Given the description of an element on the screen output the (x, y) to click on. 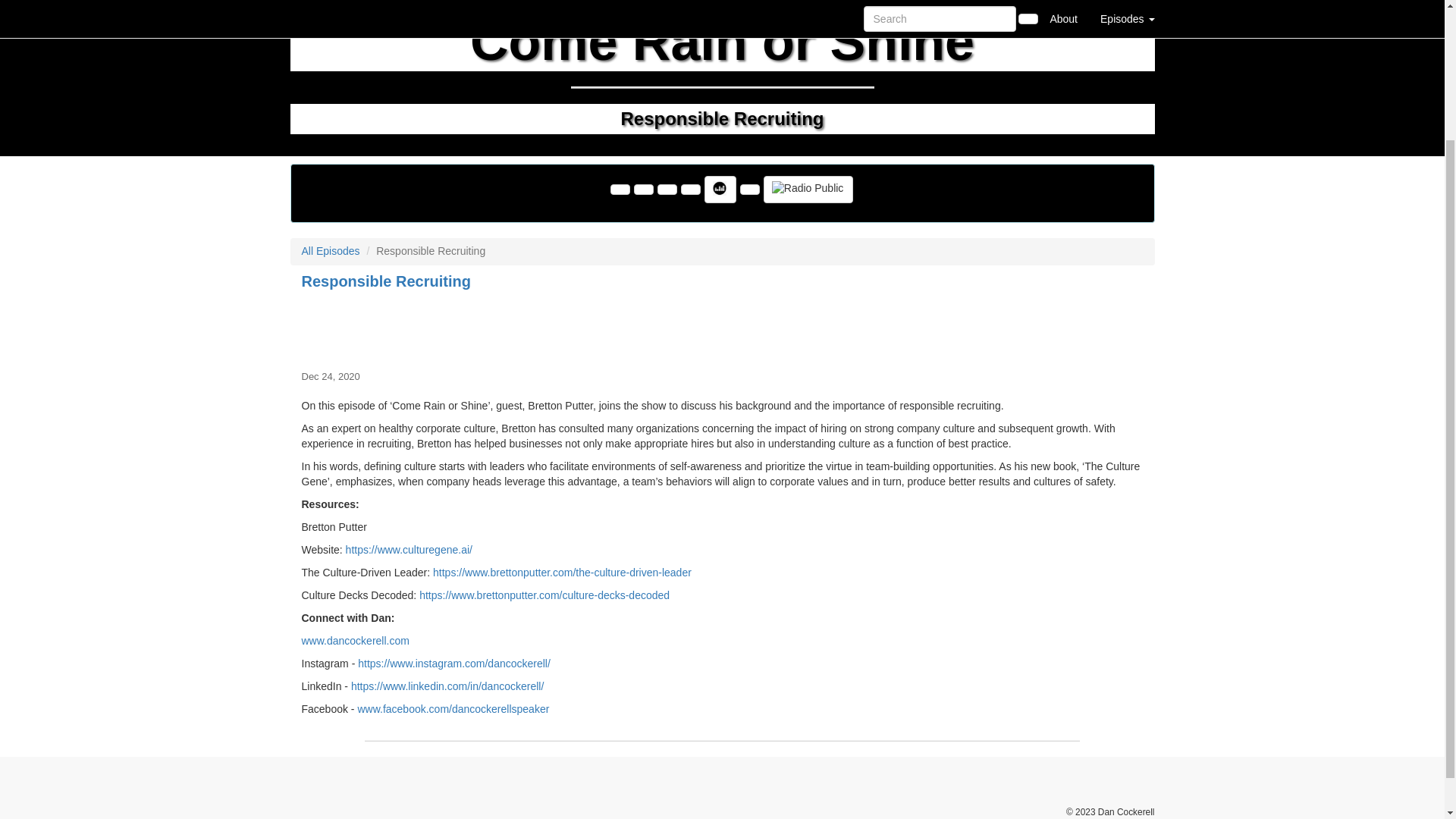
Responsible Recruiting (721, 327)
Listen on Deezer (720, 189)
Email This Podcast (667, 189)
Visit Us on Twitter (643, 189)
Listen on Apple Podcasts (749, 189)
Visit Us on Facebook (620, 189)
Subscribe to RSS Feed (690, 189)
Listen on Radio Public (807, 189)
